Given the description of an element on the screen output the (x, y) to click on. 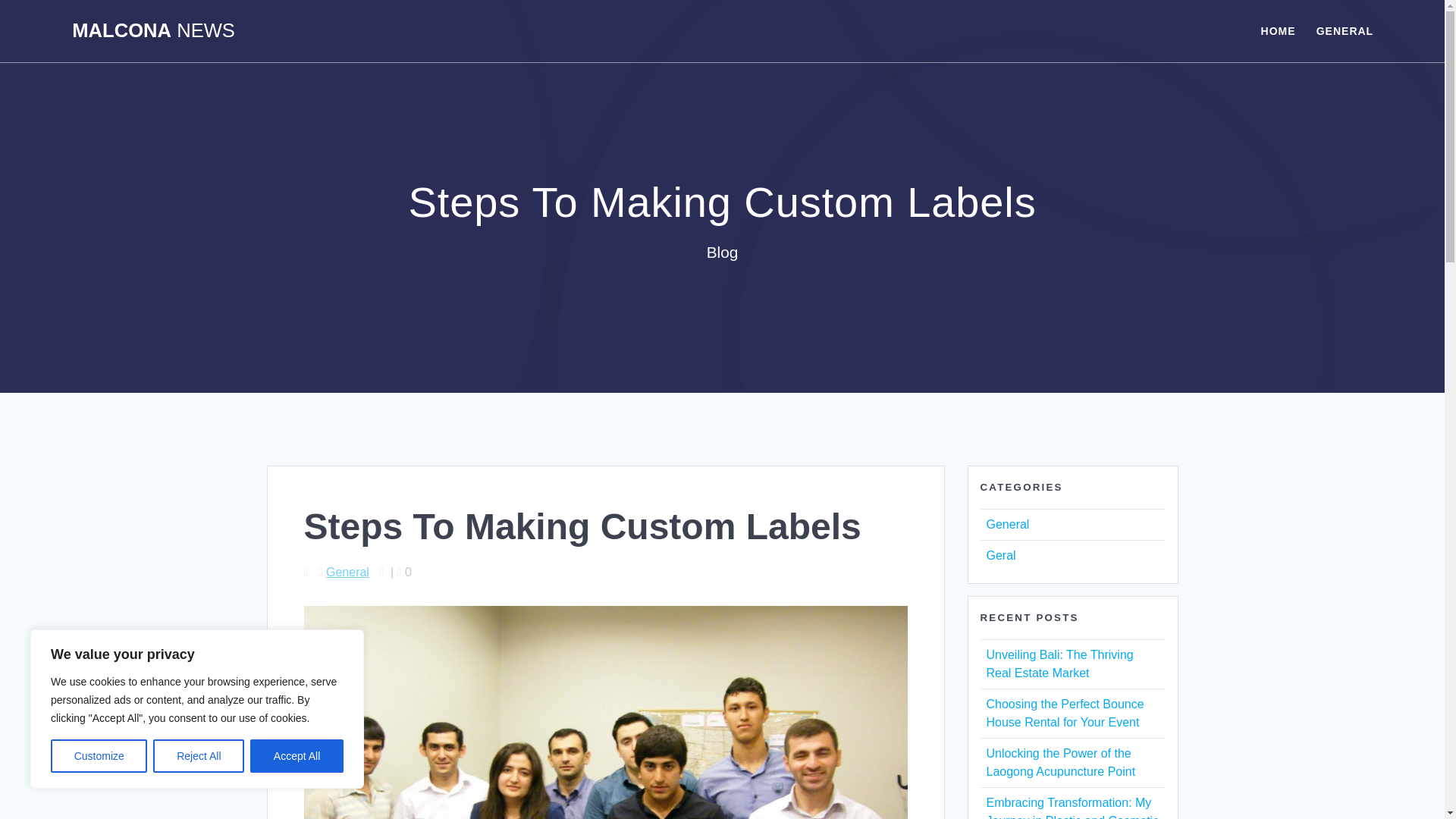
MALCONA NEWS (152, 30)
General (1007, 523)
Customize (98, 756)
HOME (1277, 30)
Choosing the Perfect Bounce House Rental for Your Event (1063, 712)
Unveiling Bali: The Thriving Real Estate Market (1058, 663)
Unlocking the Power of the Laogong Acupuncture Point (1060, 762)
GENERAL (1344, 30)
Geral (999, 554)
